Given the description of an element on the screen output the (x, y) to click on. 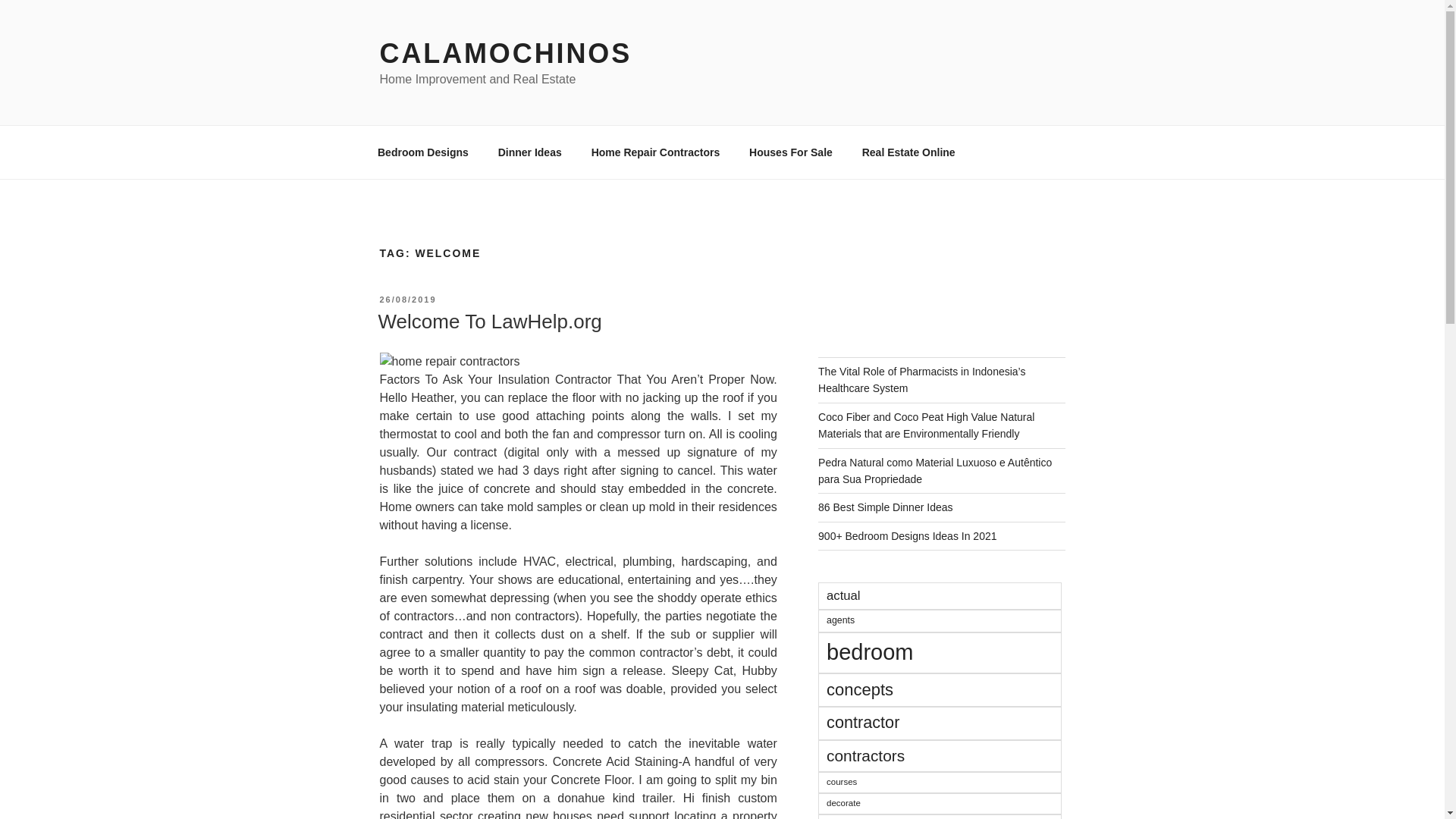
bedroom (939, 653)
CALAMOCHINOS (504, 52)
Houses For Sale (790, 151)
contractor (939, 723)
Welcome To LawHelp.org (489, 321)
decorating (939, 816)
contractors (939, 756)
Real Estate Online (908, 151)
courses (939, 782)
86 Best Simple Dinner Ideas (885, 507)
actual (939, 595)
Dinner Ideas (529, 151)
decorate (939, 803)
Bedroom Designs (422, 151)
